Given the description of an element on the screen output the (x, y) to click on. 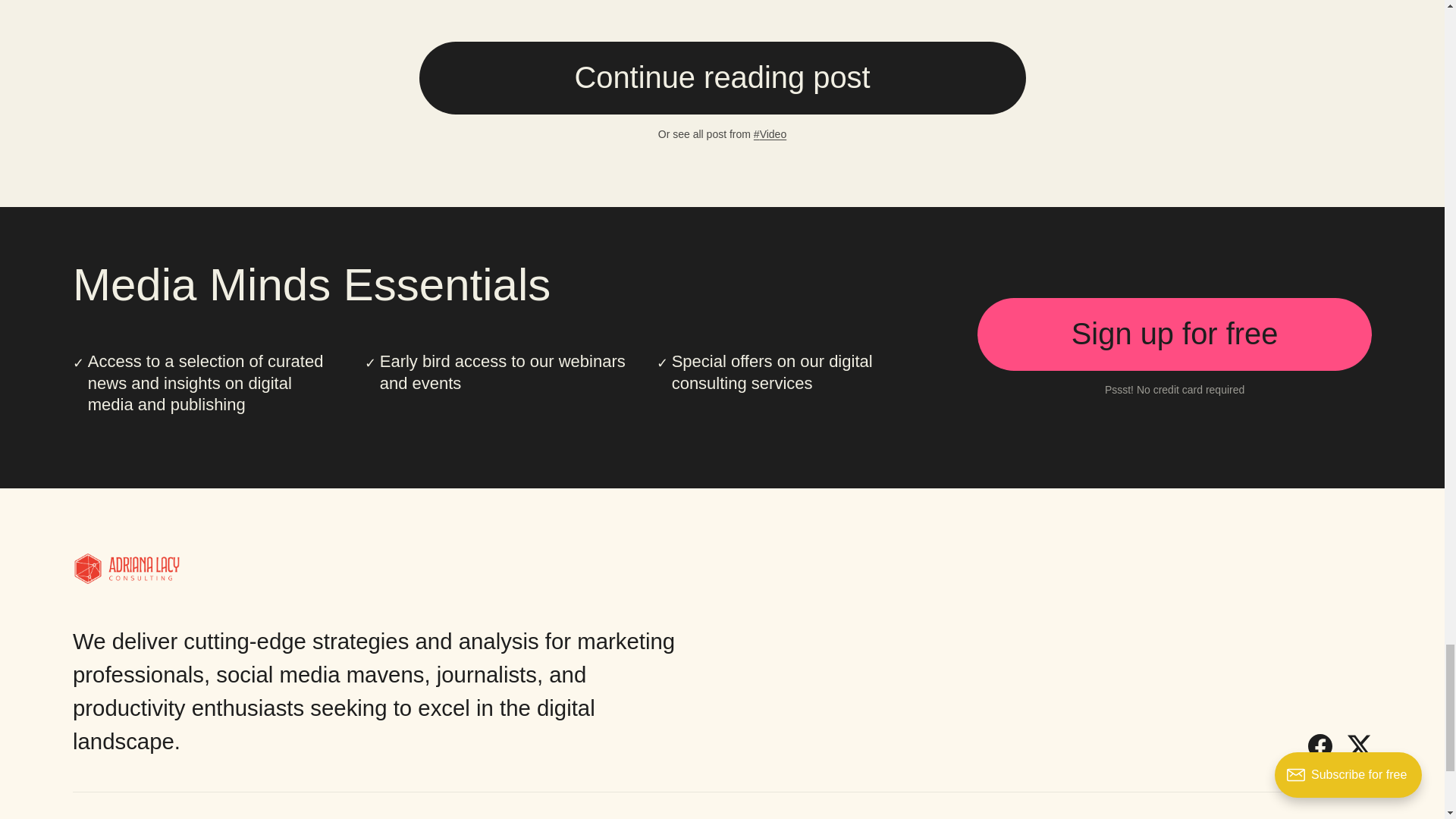
Video (770, 133)
Sign up for free (1173, 334)
Continue reading post (722, 77)
